Given the description of an element on the screen output the (x, y) to click on. 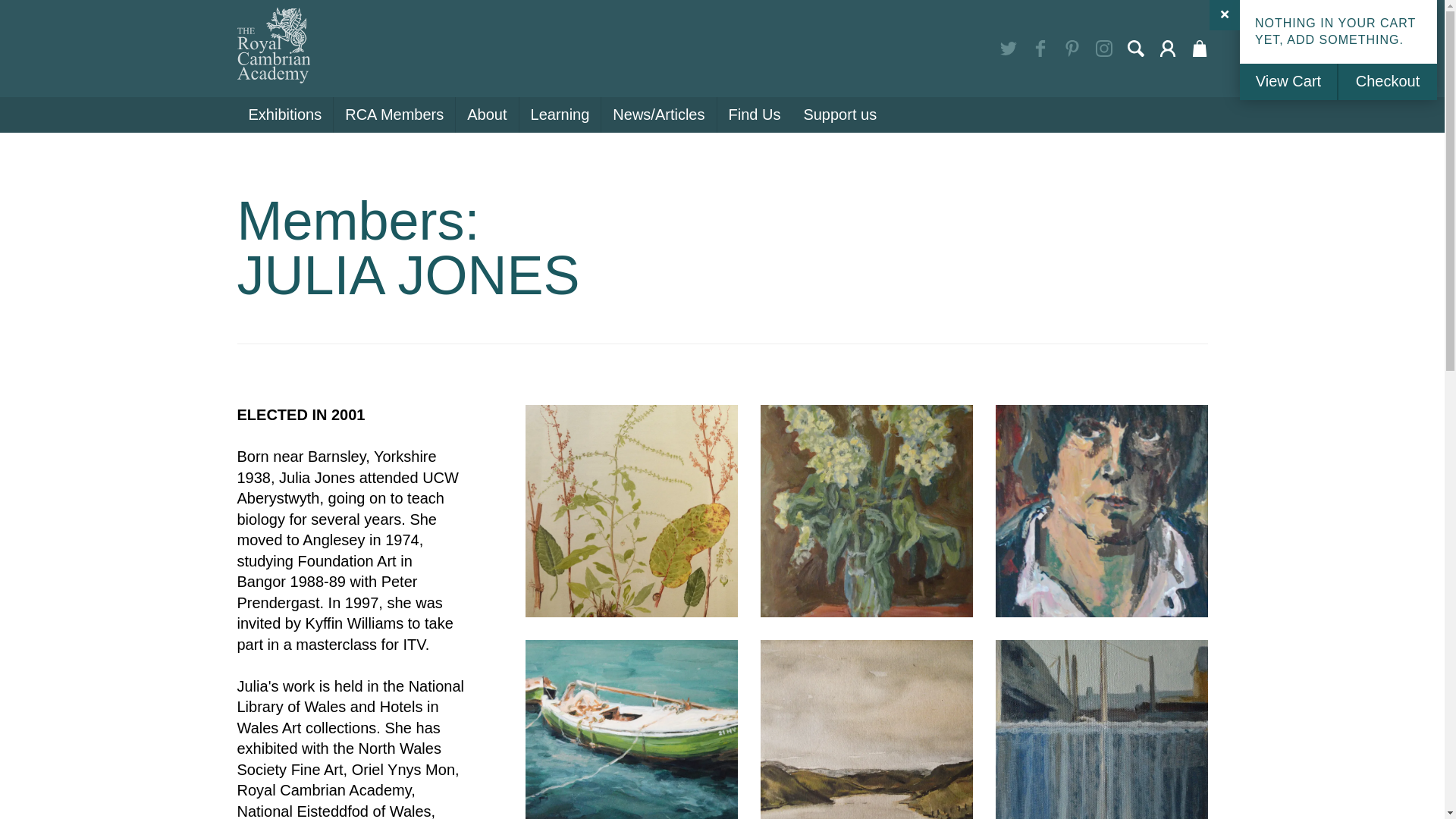
About (486, 115)
Learning (560, 115)
ADD SOMETHING (1343, 39)
Exhibitions (284, 115)
View Cart (1289, 81)
Checkout (1387, 81)
RCA Members (394, 115)
